Given the description of an element on the screen output the (x, y) to click on. 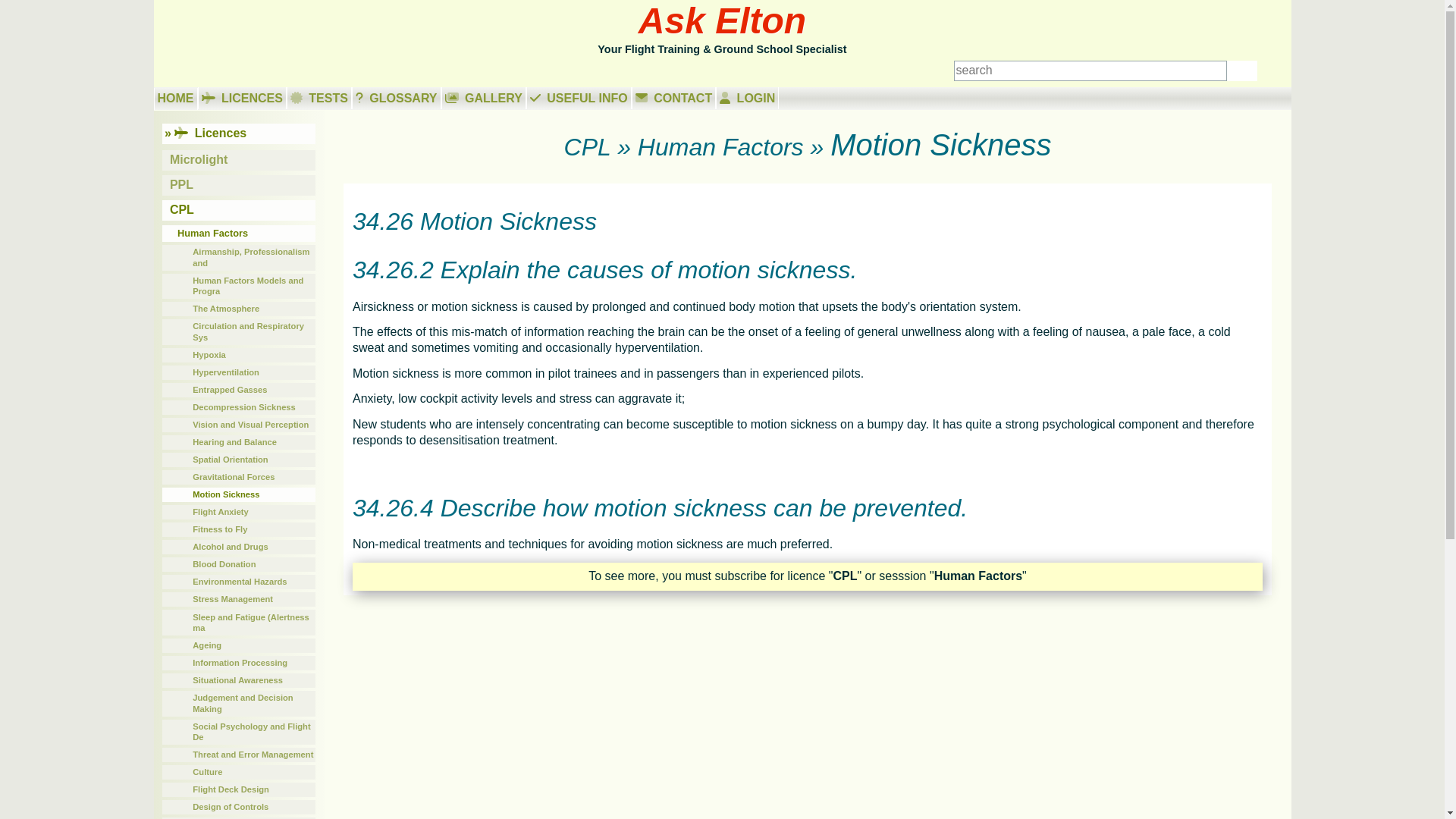
LICENCES (240, 97)
HOME (174, 98)
